Given the description of an element on the screen output the (x, y) to click on. 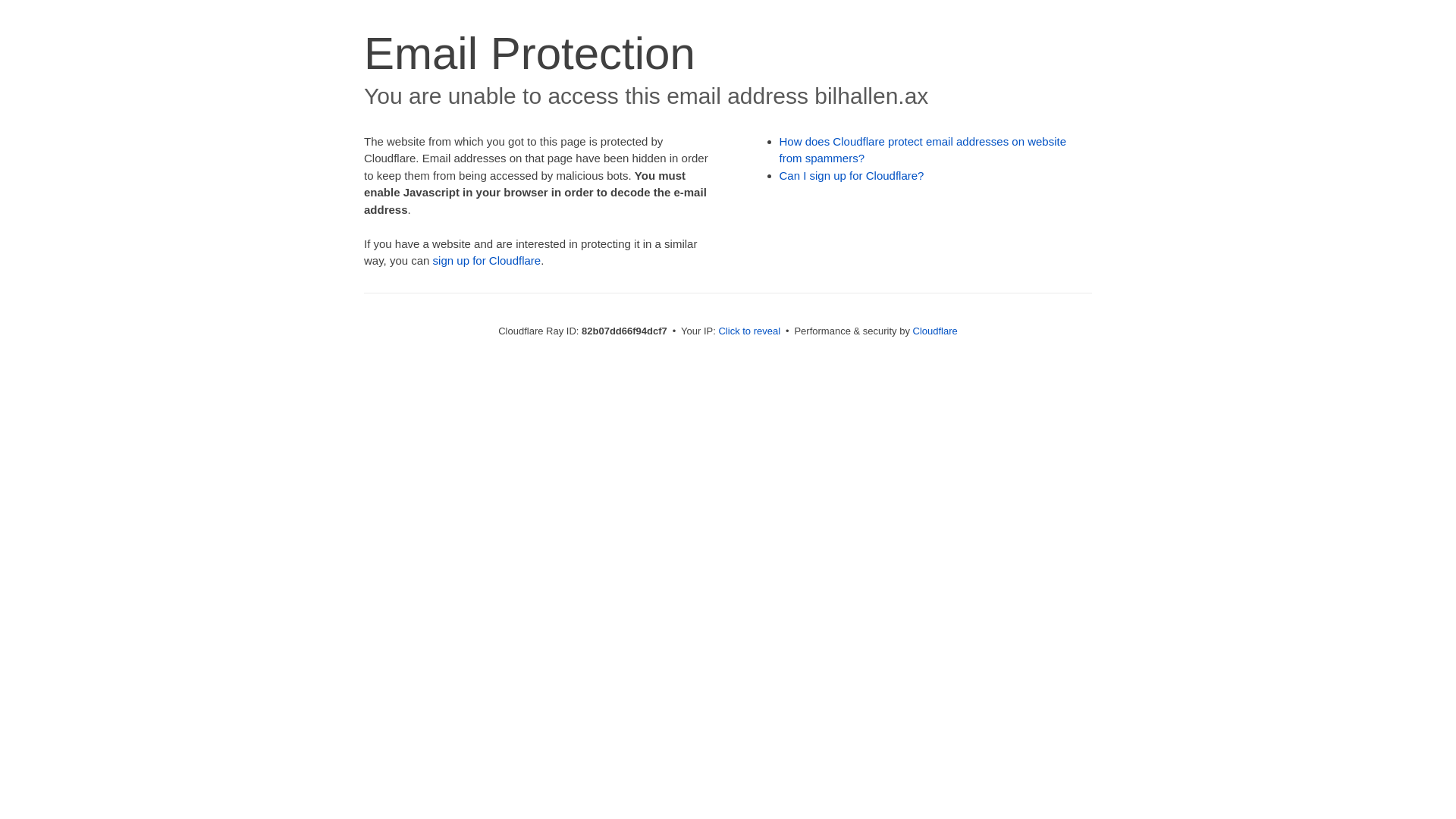
Can I sign up for Cloudflare? Element type: text (851, 175)
Cloudflare Element type: text (935, 330)
sign up for Cloudflare Element type: text (487, 260)
Click to reveal Element type: text (749, 330)
